Given the description of an element on the screen output the (x, y) to click on. 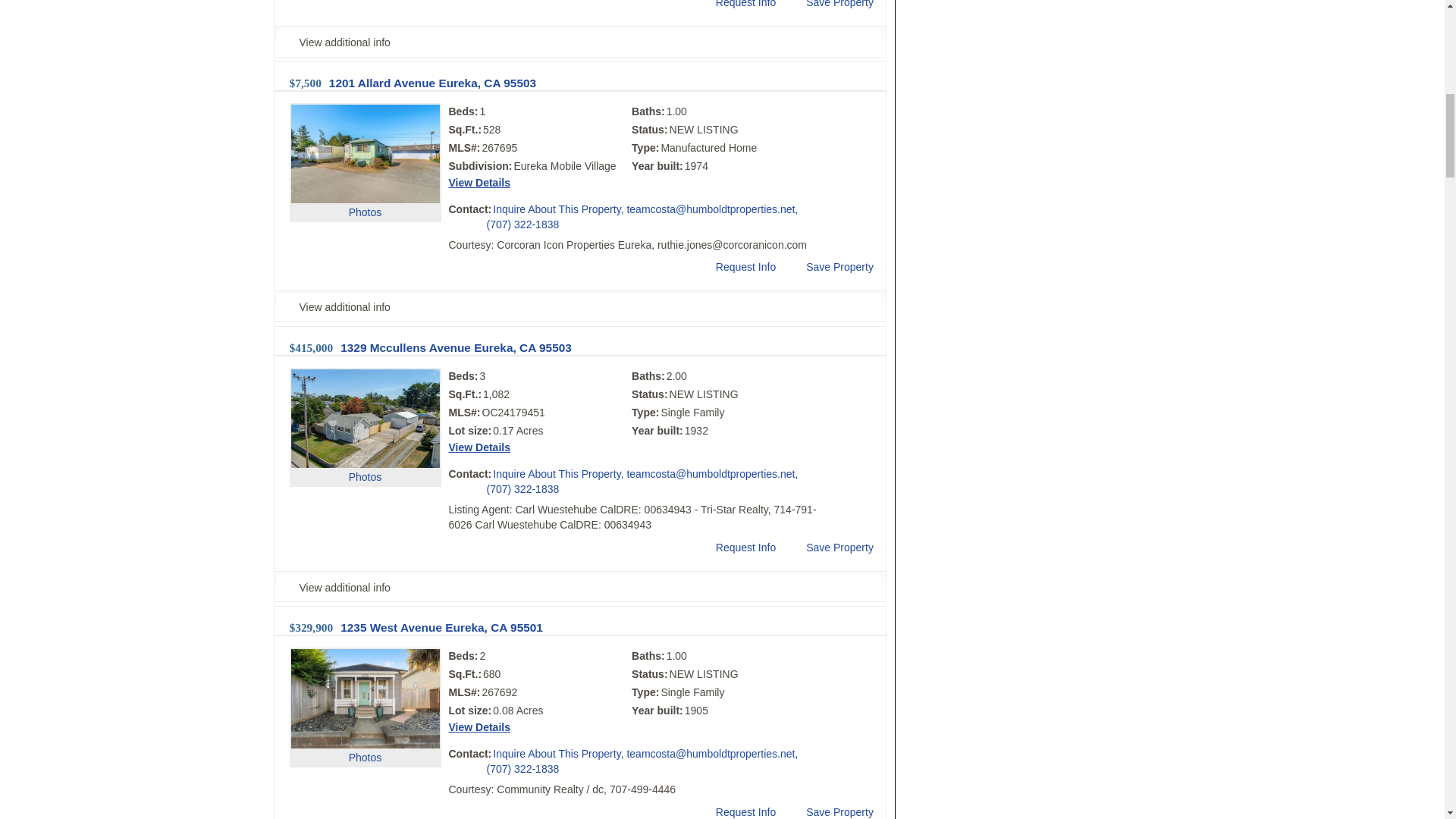
Request Info (734, 5)
View Details (479, 182)
1201 Allard Avenue Eureka, CA 95503 (432, 82)
Photos (365, 183)
Save Property (828, 5)
View property remarks and map (580, 587)
View property remarks and map (580, 42)
View property remarks and map (580, 307)
